Given the description of an element on the screen output the (x, y) to click on. 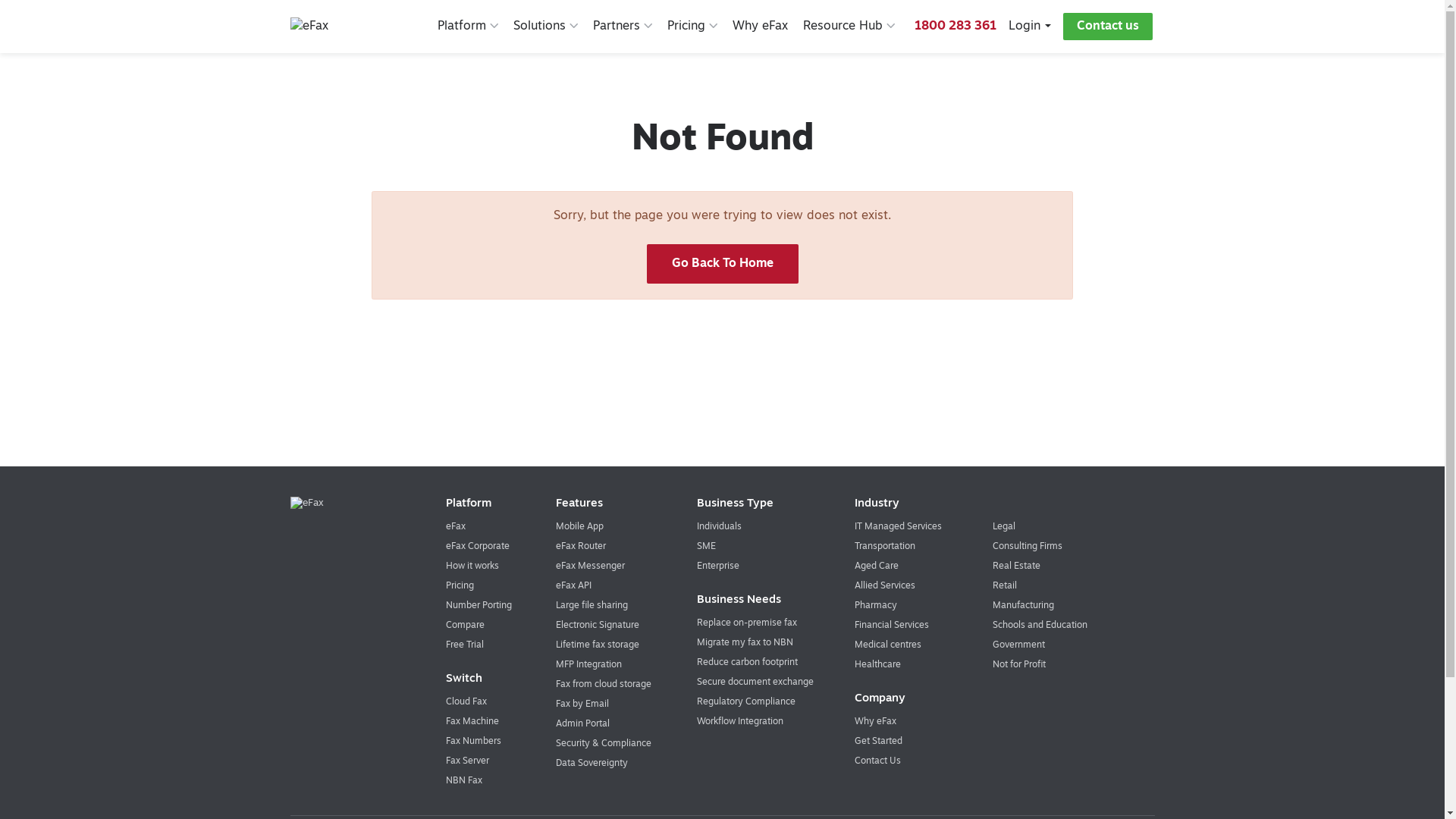
Manufacturing Element type: text (1023, 605)
Solutions Element type: text (545, 26)
Platform Element type: text (467, 26)
Real Estate Element type: text (1016, 566)
Platform Element type: text (484, 503)
Large file sharing Element type: text (591, 605)
Security & Compliance Element type: text (603, 743)
Healthcare Element type: text (877, 664)
Admin Portal Element type: text (582, 723)
Compare Element type: text (464, 625)
Cloud Fax Element type: text (465, 701)
Fax Numbers Element type: text (473, 741)
Company Element type: text (1004, 698)
eFax Corporate Element type: text (477, 546)
Legal Element type: text (1003, 526)
Contact us Element type: text (1107, 26)
Fax by Email Element type: text (581, 704)
eFax Messenger Element type: text (589, 566)
eFax Router Element type: text (580, 546)
Contact Us Element type: text (877, 760)
Fax from cloud storage Element type: text (603, 684)
Reduce carbon footprint Element type: text (746, 662)
Get Started Element type: text (878, 741)
Business Needs Element type: text (758, 600)
Free Trial Element type: text (464, 644)
Pharmacy Element type: text (875, 605)
Go Back To Home Element type: text (721, 263)
Industry Element type: text (1004, 503)
Aged Care Element type: text (876, 566)
Secure document exchange Element type: text (754, 682)
1800 283 361 Element type: text (955, 26)
Replace on-premise fax Element type: text (746, 622)
How it works Element type: text (471, 566)
Number Porting Element type: text (478, 605)
SME Element type: text (705, 546)
Lifetime fax storage Element type: text (597, 644)
Resource Hub Element type: text (848, 26)
Consulting Firms Element type: text (1027, 546)
Schools and Education Element type: text (1039, 625)
Mobile App Element type: text (579, 526)
Data Sovereignty Element type: text (591, 763)
Fax Server Element type: text (467, 760)
Medical centres Element type: text (887, 644)
Switch Element type: text (484, 679)
Allied Services Element type: text (884, 585)
Electronic Signature Element type: text (597, 625)
Enterprise Element type: text (717, 566)
MFP Integration Element type: text (588, 664)
Retail Element type: text (1004, 585)
eFax Element type: text (455, 526)
Pricing Element type: text (692, 26)
Partners Element type: text (622, 26)
eFax API Element type: text (573, 585)
Workflow Integration Element type: text (739, 721)
Government Element type: text (1018, 644)
Individuals Element type: text (718, 526)
Migrate my fax to NBN Element type: text (744, 642)
Fax Machine Element type: text (471, 721)
IT Managed Services Element type: text (897, 526)
NBN Fax Element type: text (463, 780)
Financial Services Element type: text (891, 625)
Transportation Element type: text (884, 546)
Business Type Element type: text (758, 503)
Features Element type: text (608, 503)
Login Element type: text (1029, 26)
Why eFax Element type: text (759, 26)
Regulatory Compliance Element type: text (745, 701)
Not for Profit Element type: text (1018, 664)
Why eFax Element type: text (875, 721)
Pricing Element type: text (459, 585)
